Given the description of an element on the screen output the (x, y) to click on. 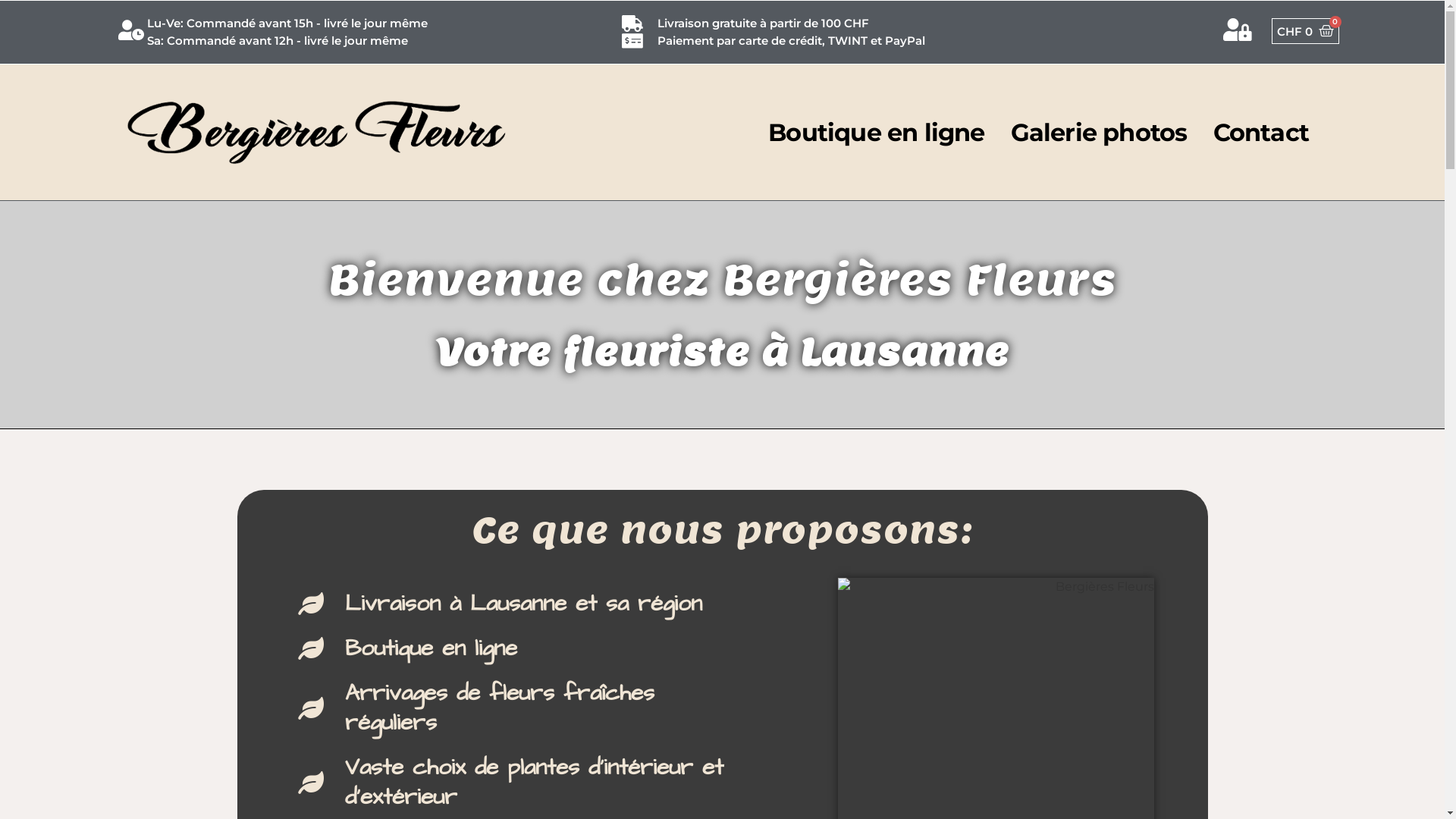
Galerie photos Element type: text (1098, 131)
CHF 0
0 Element type: text (1305, 30)
Contact Element type: text (1260, 131)
Boutique en ligne Element type: text (876, 131)
